Given the description of an element on the screen output the (x, y) to click on. 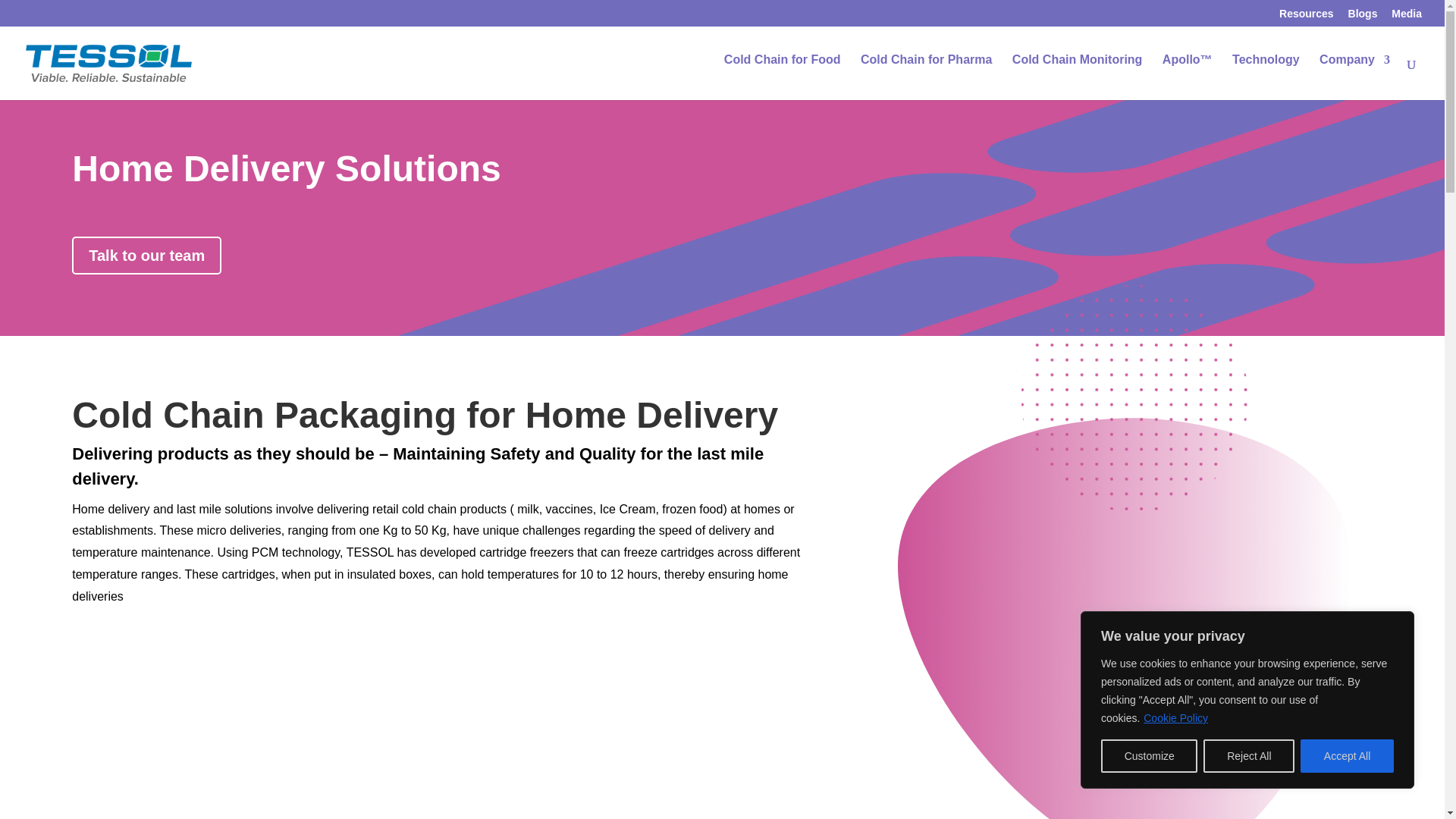
Cold Chain for Pharma (925, 74)
Technology (1265, 74)
Blogs (1362, 16)
Media (1406, 16)
Cold Chain for Food (782, 74)
Accept All (1346, 756)
Cookie Policy (1175, 717)
Cold Chain Monitoring (1076, 74)
Reject All (1249, 756)
Resources (1306, 16)
Company (1354, 74)
Customize (1148, 756)
